Given the description of an element on the screen output the (x, y) to click on. 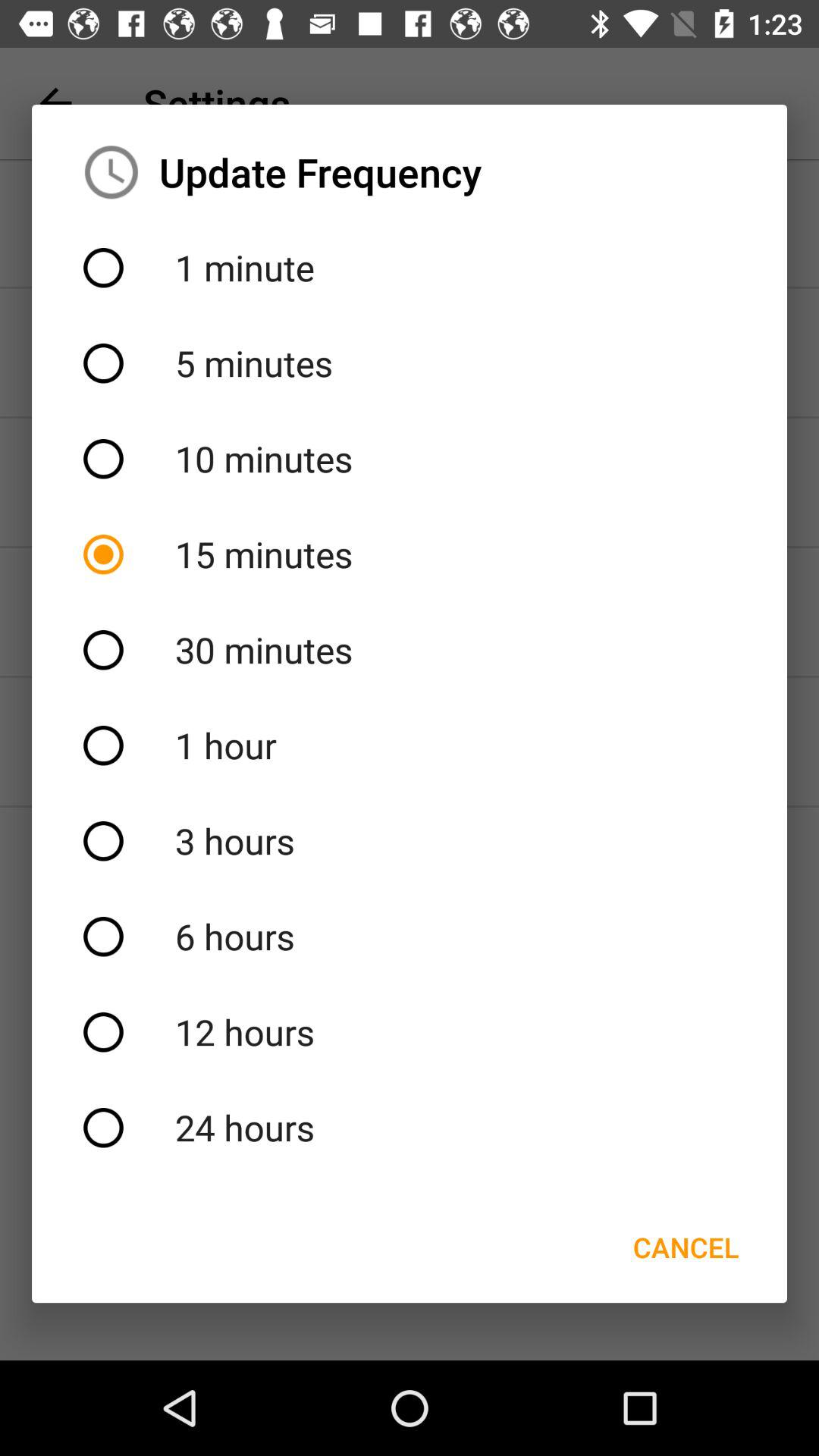
scroll to the 5 minutes (409, 363)
